Given the description of an element on the screen output the (x, y) to click on. 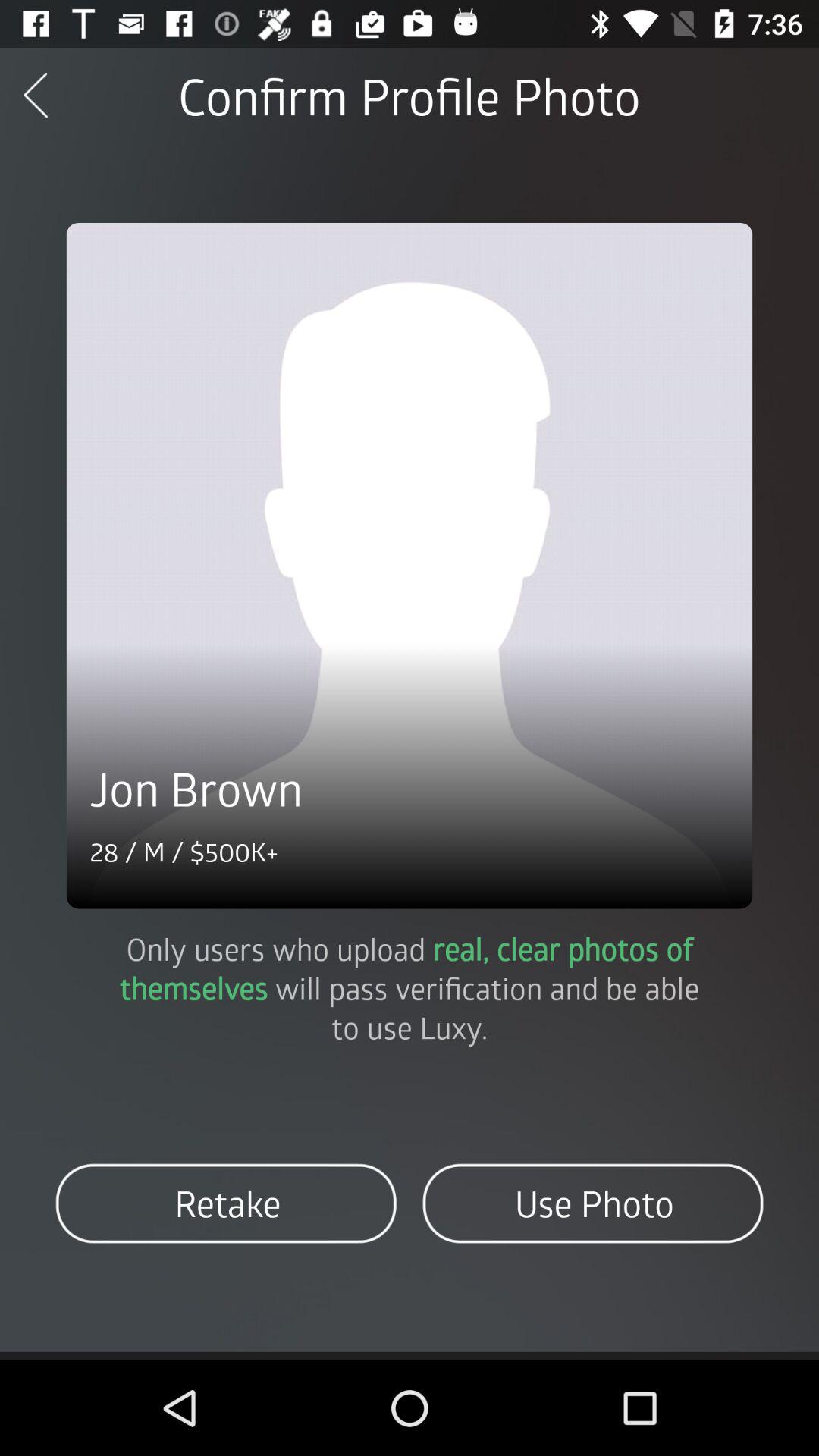
swipe to the use photo (592, 1203)
